Given the description of an element on the screen output the (x, y) to click on. 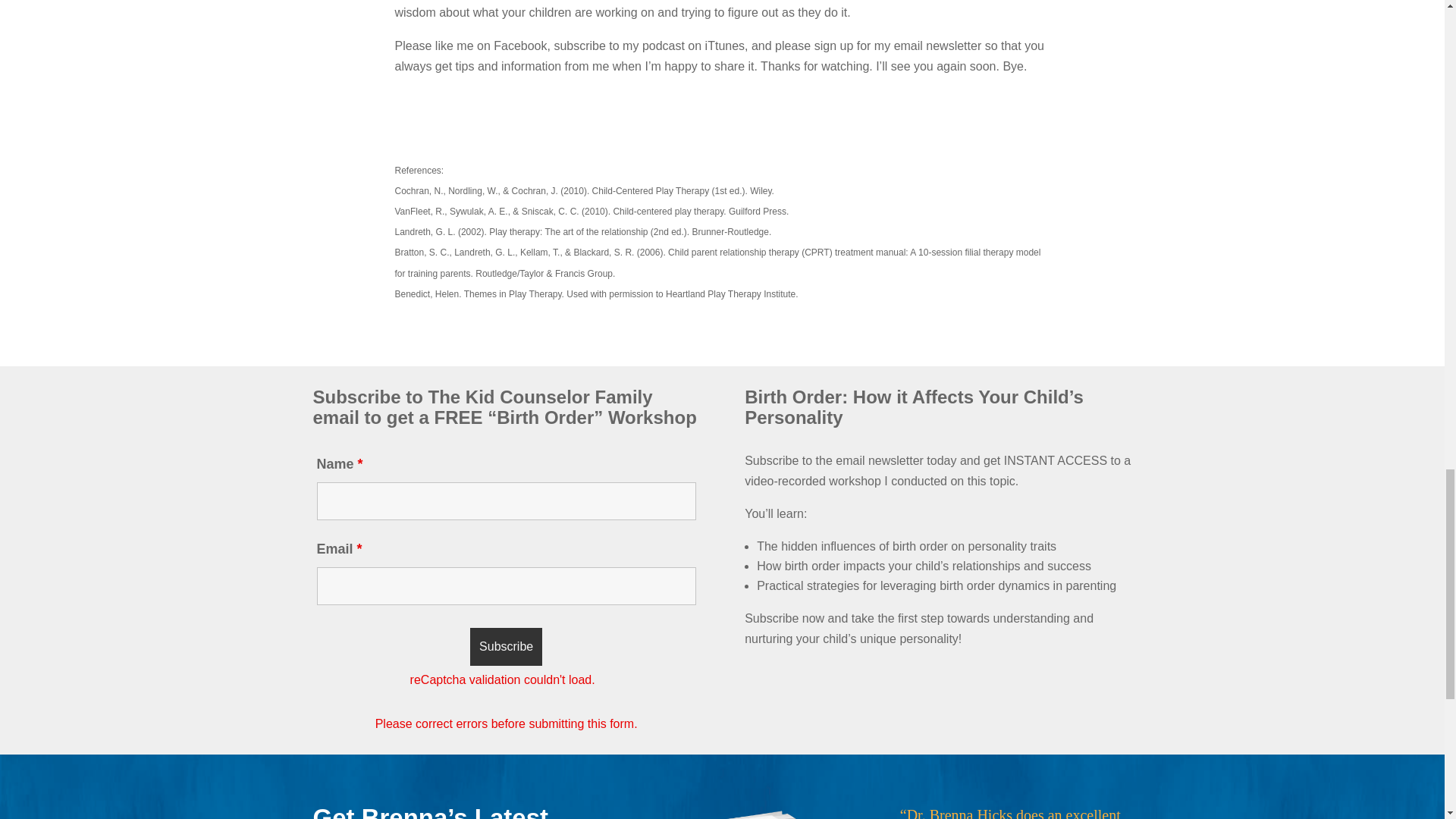
Subscribe (505, 646)
book-mockup-DeviceDetox 400 (722, 812)
Subscribe (505, 646)
